Given the description of an element on the screen output the (x, y) to click on. 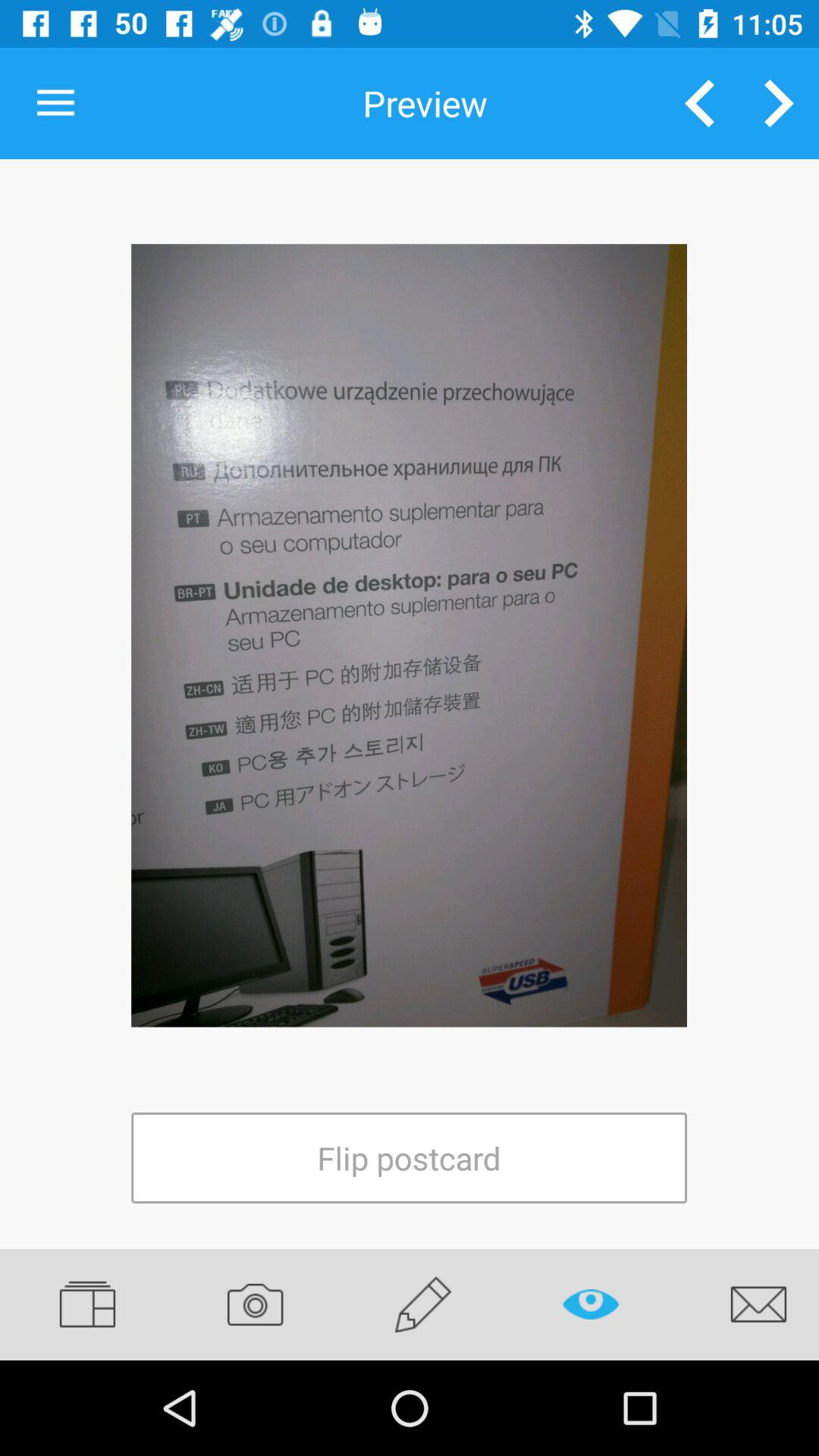
go to next (779, 103)
